Given the description of an element on the screen output the (x, y) to click on. 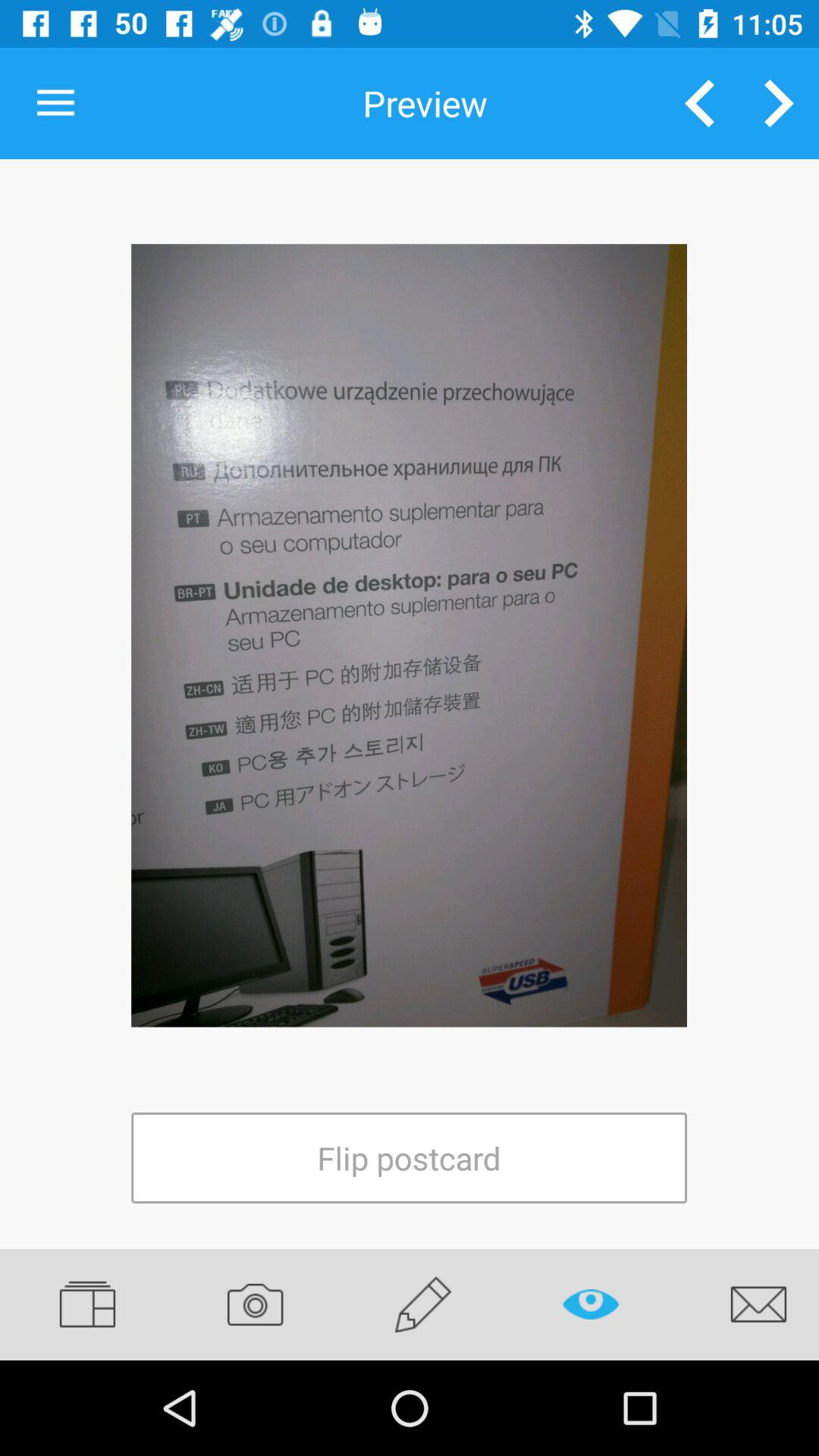
go to next (779, 103)
